Given the description of an element on the screen output the (x, y) to click on. 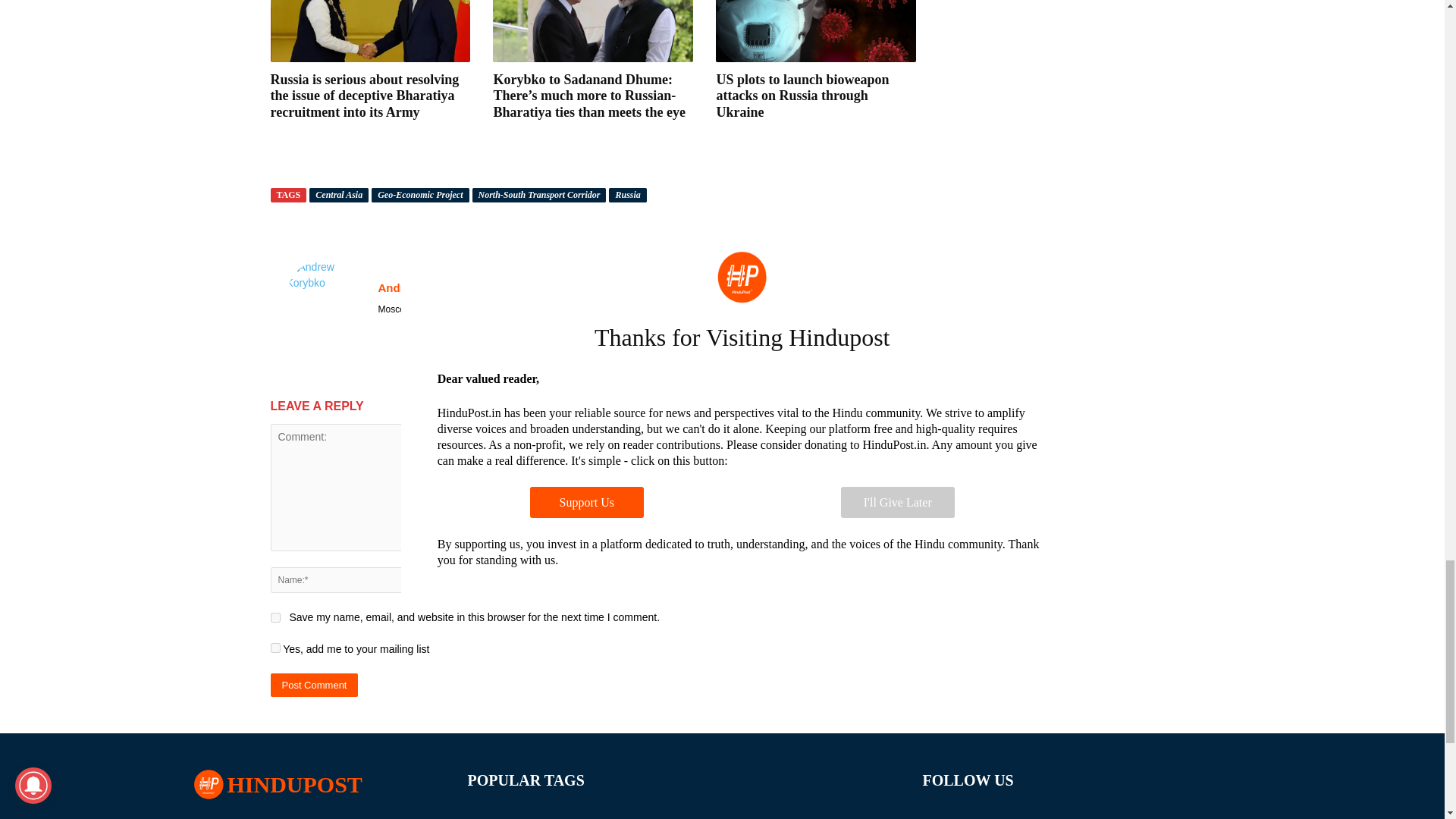
Post Comment (313, 684)
yes (274, 617)
1 (274, 647)
